Given the description of an element on the screen output the (x, y) to click on. 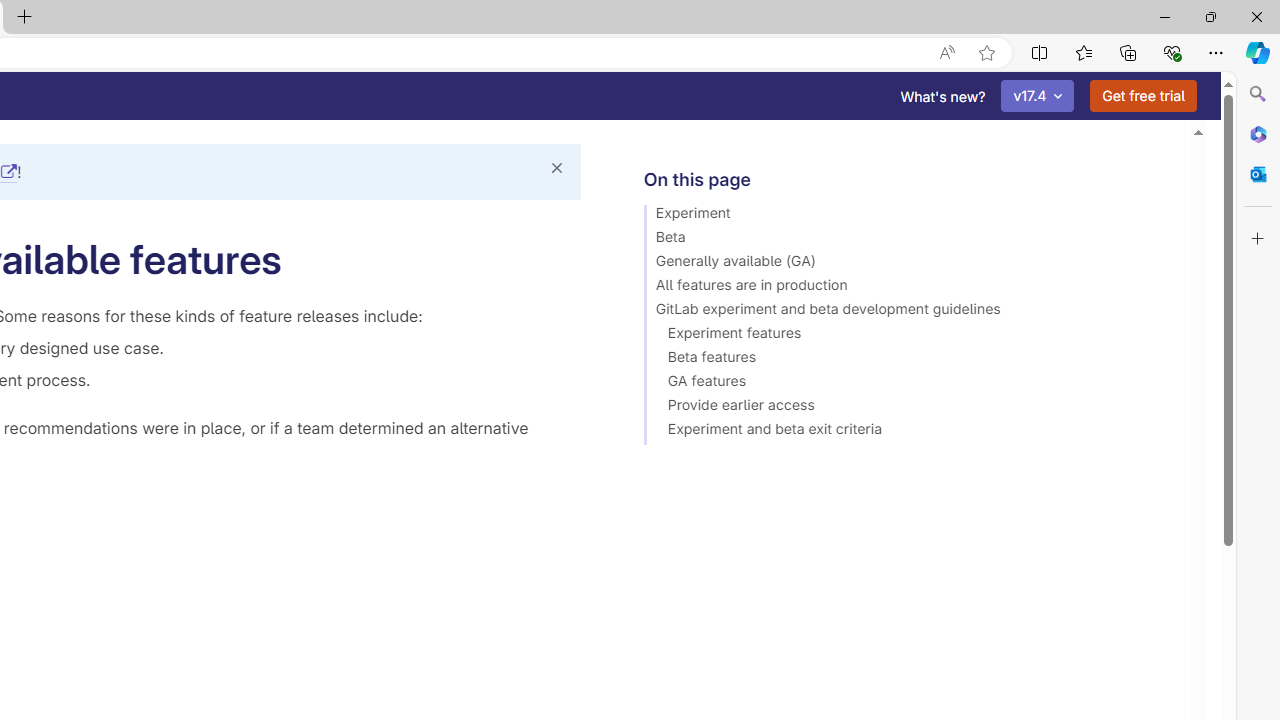
All features are in production (908, 287)
Provide earlier access (908, 408)
Beta (908, 240)
Get free trial (1143, 95)
Provide earlier access (908, 408)
Beta (908, 240)
GA features (908, 384)
Experiment (908, 215)
Generally available (GA) (908, 264)
Beta features (908, 359)
